Given the description of an element on the screen output the (x, y) to click on. 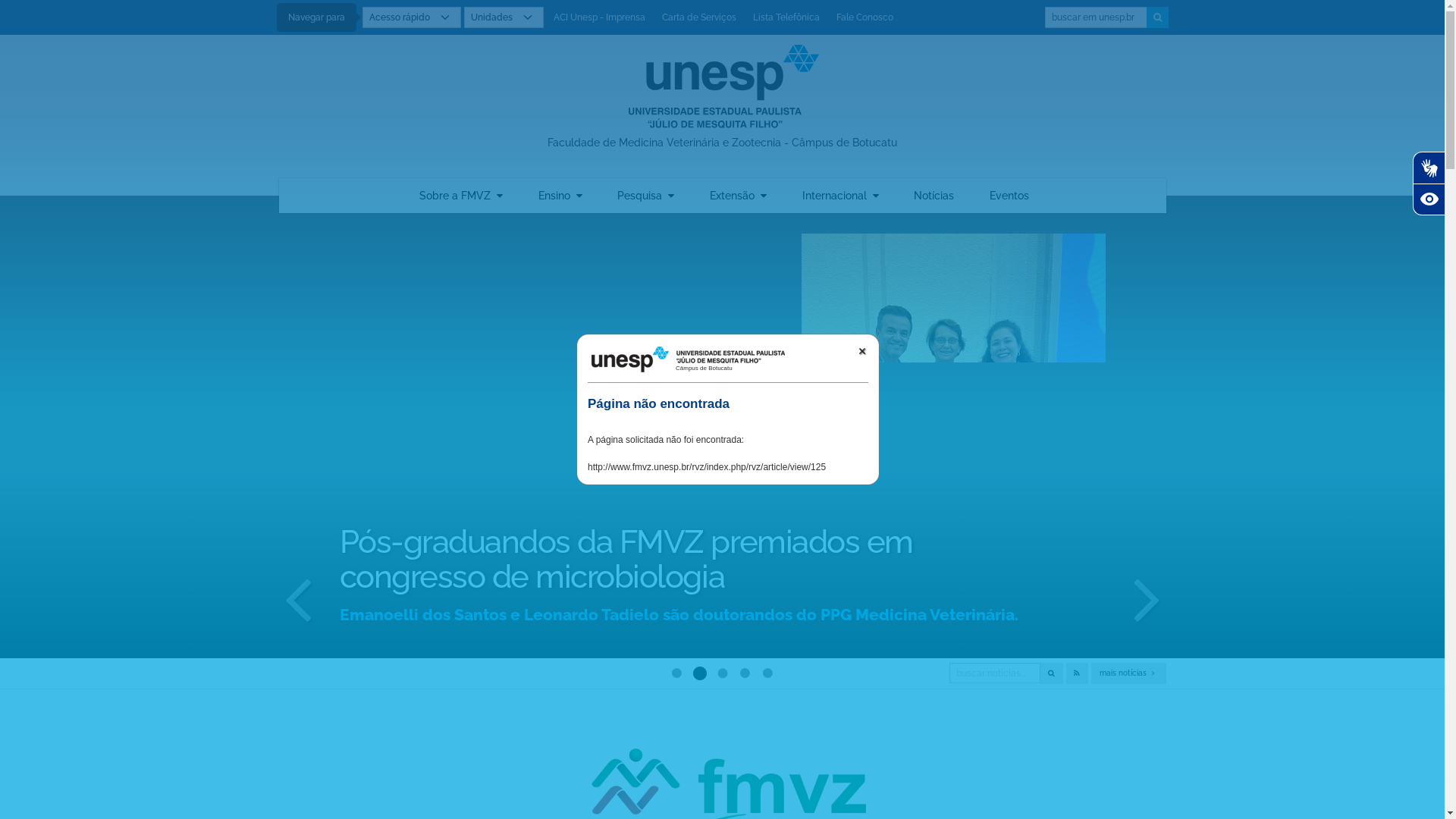
Buscar em unesp.br Element type: hover (1095, 17)
Ensino Element type: text (560, 195)
Pesquisa Element type: text (646, 195)
Feed de RSS Element type: text (1077, 673)
Sobre a FMVZ Element type: text (460, 195)
Fechar Element type: hover (862, 351)
Eventos Element type: text (1008, 195)
Internacional Element type: text (840, 195)
Ir para o item anterior Element type: text (297, 597)
